Given the description of an element on the screen output the (x, y) to click on. 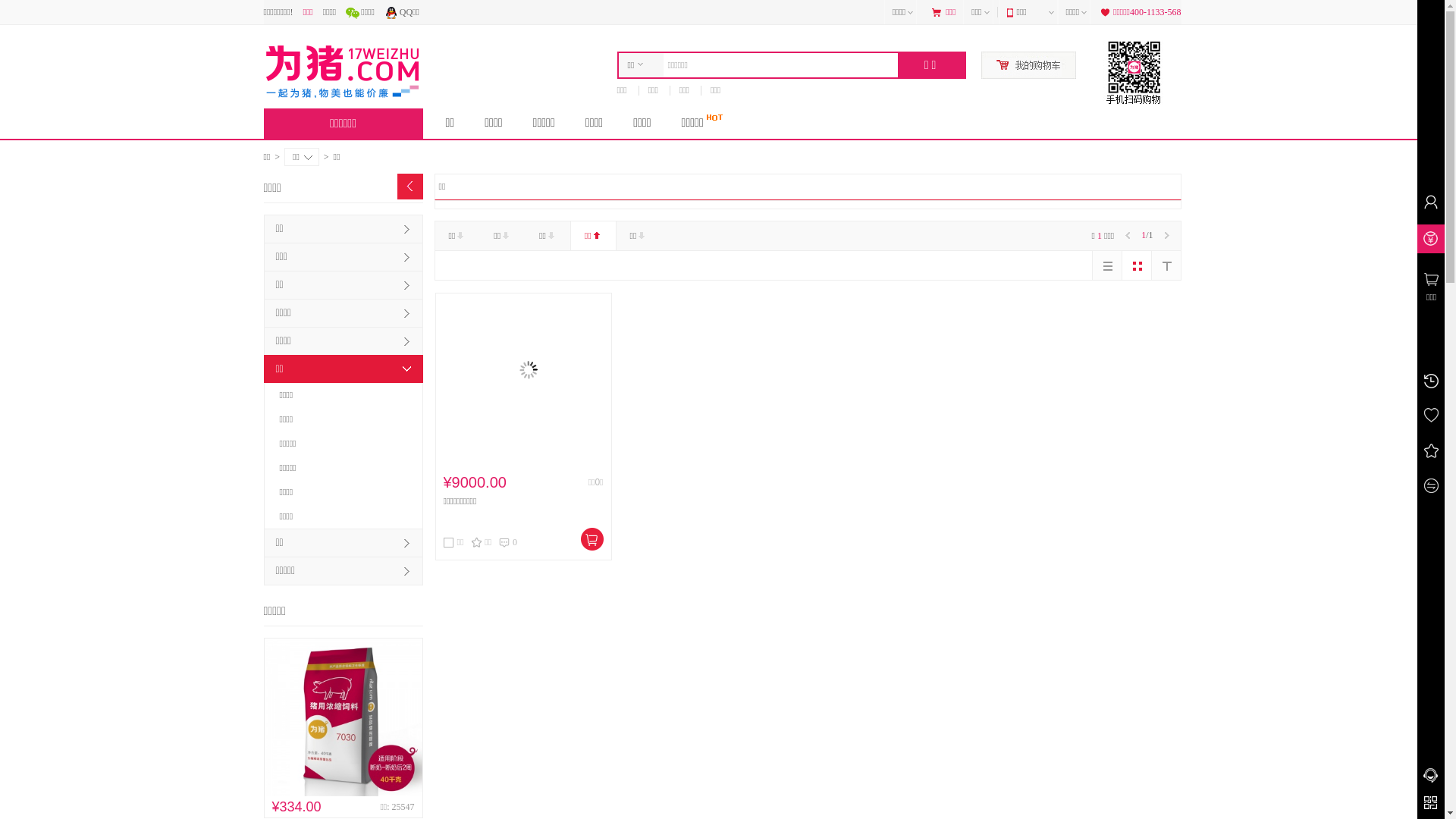
0 Element type: text (507, 542)
